Given the description of an element on the screen output the (x, y) to click on. 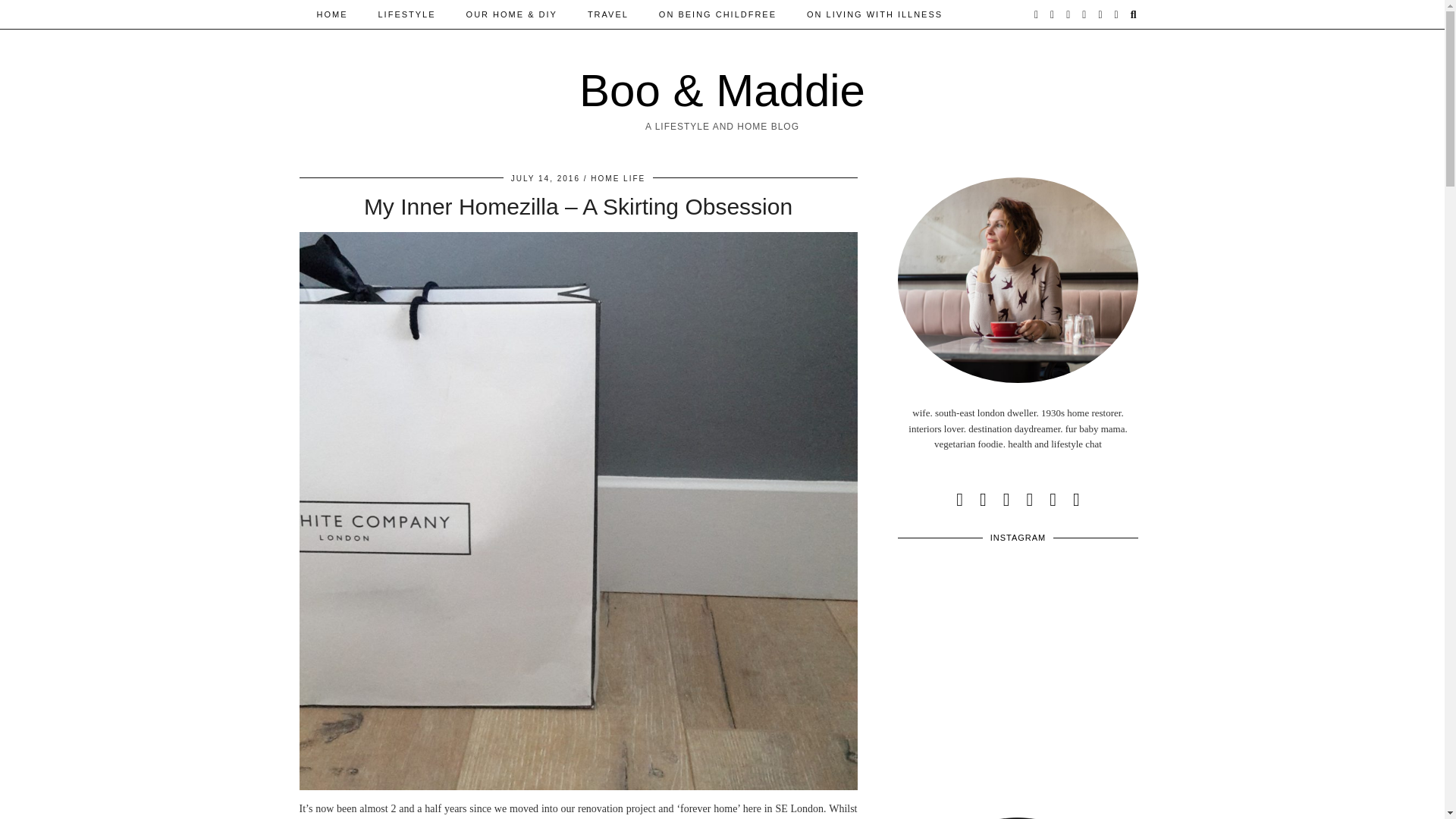
LIFESTYLE (405, 14)
TRAVEL (607, 14)
ON BEING CHILDFREE (717, 14)
HOME (331, 14)
ON LIVING WITH ILLNESS (875, 14)
